Given the description of an element on the screen output the (x, y) to click on. 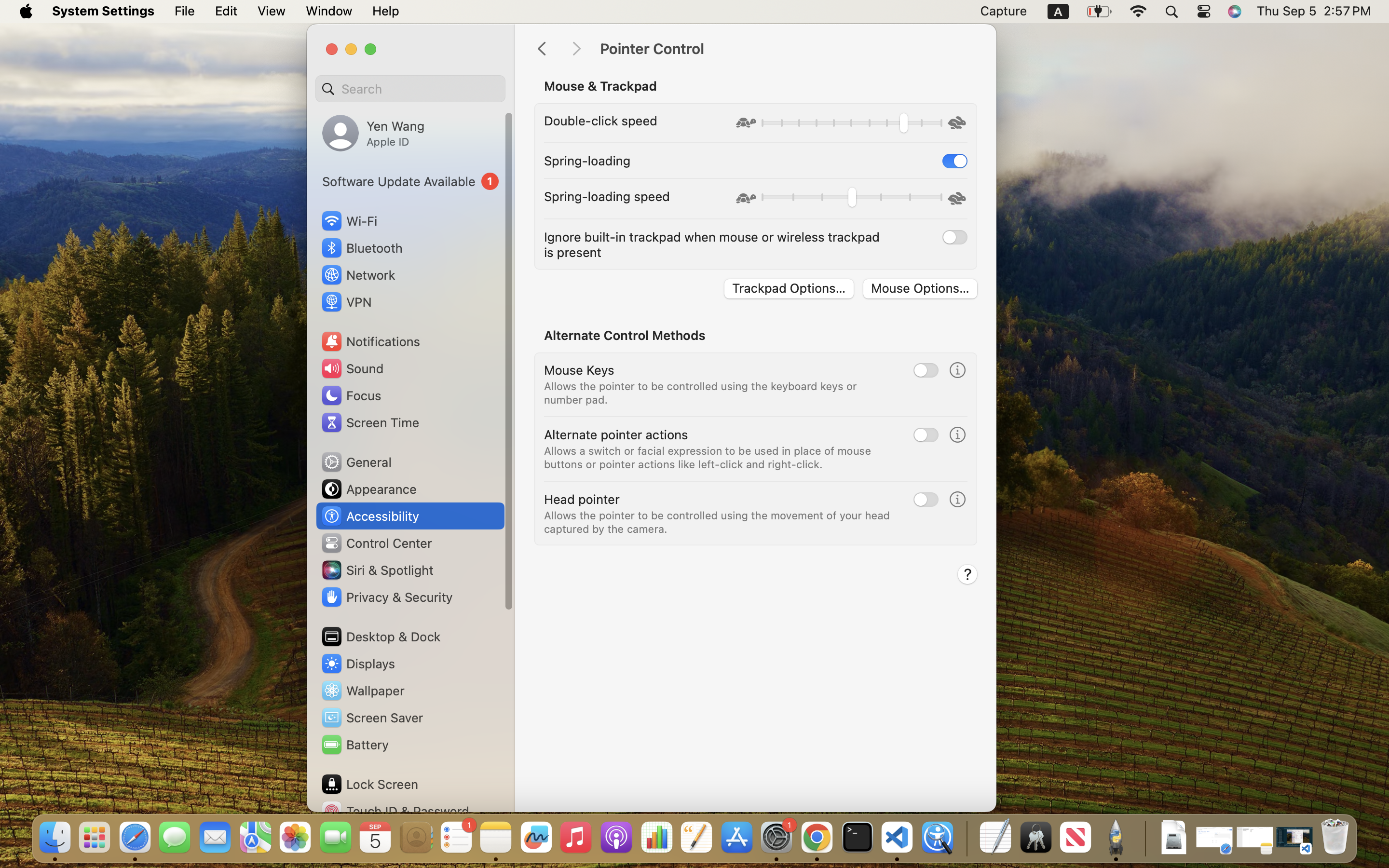
Notifications Element type: AXStaticText (370, 340)
Allows the pointer to be controlled using the keyboard keys or number pad. Element type: AXStaticText (701, 392)
Pointer Control Element type: AXStaticText (788, 49)
